Given the description of an element on the screen output the (x, y) to click on. 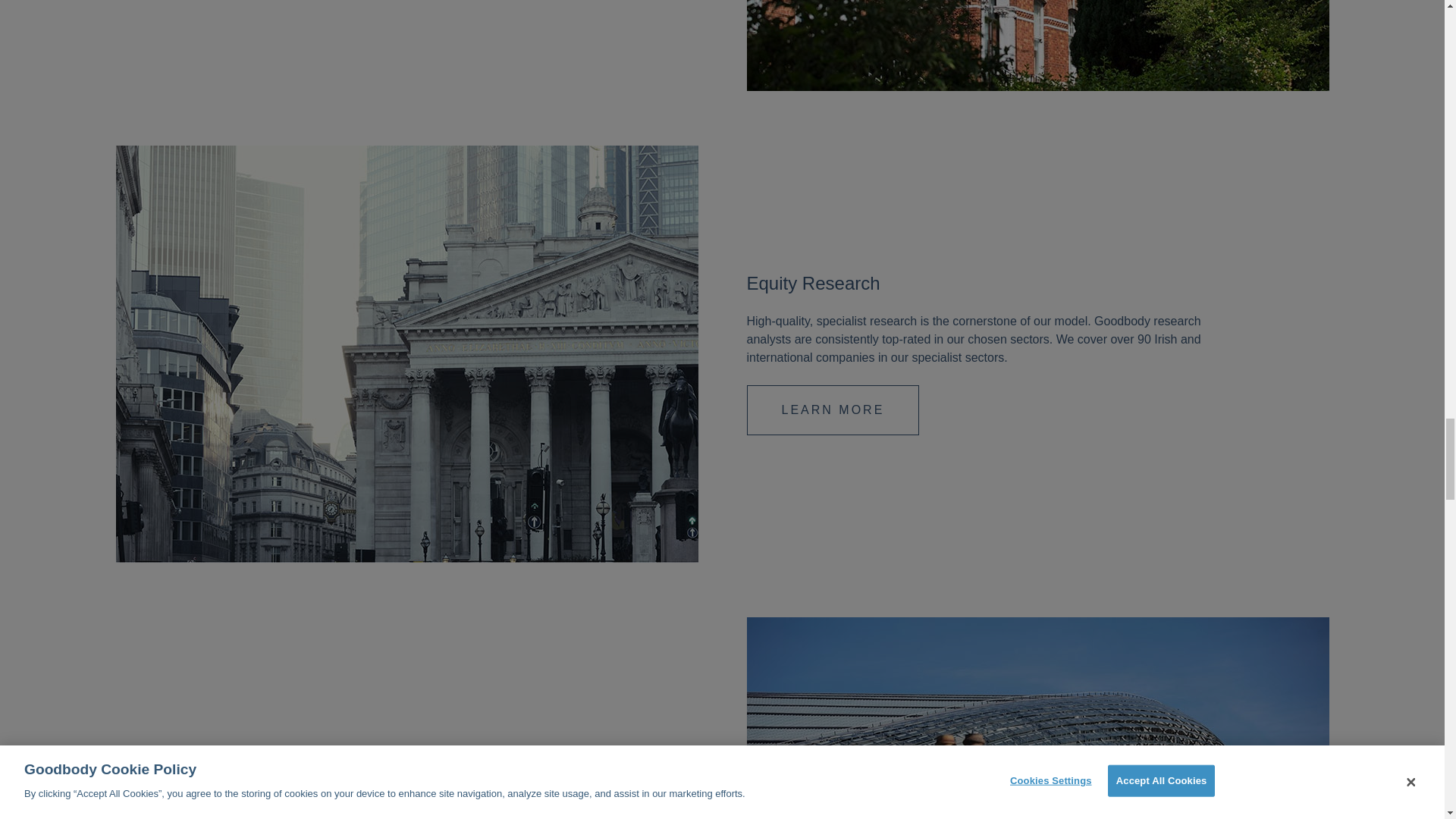
aviva-aerial-dublin-goodbody (1036, 718)
redbrick-residential-dublin-goodbody (1036, 45)
